Given the description of an element on the screen output the (x, y) to click on. 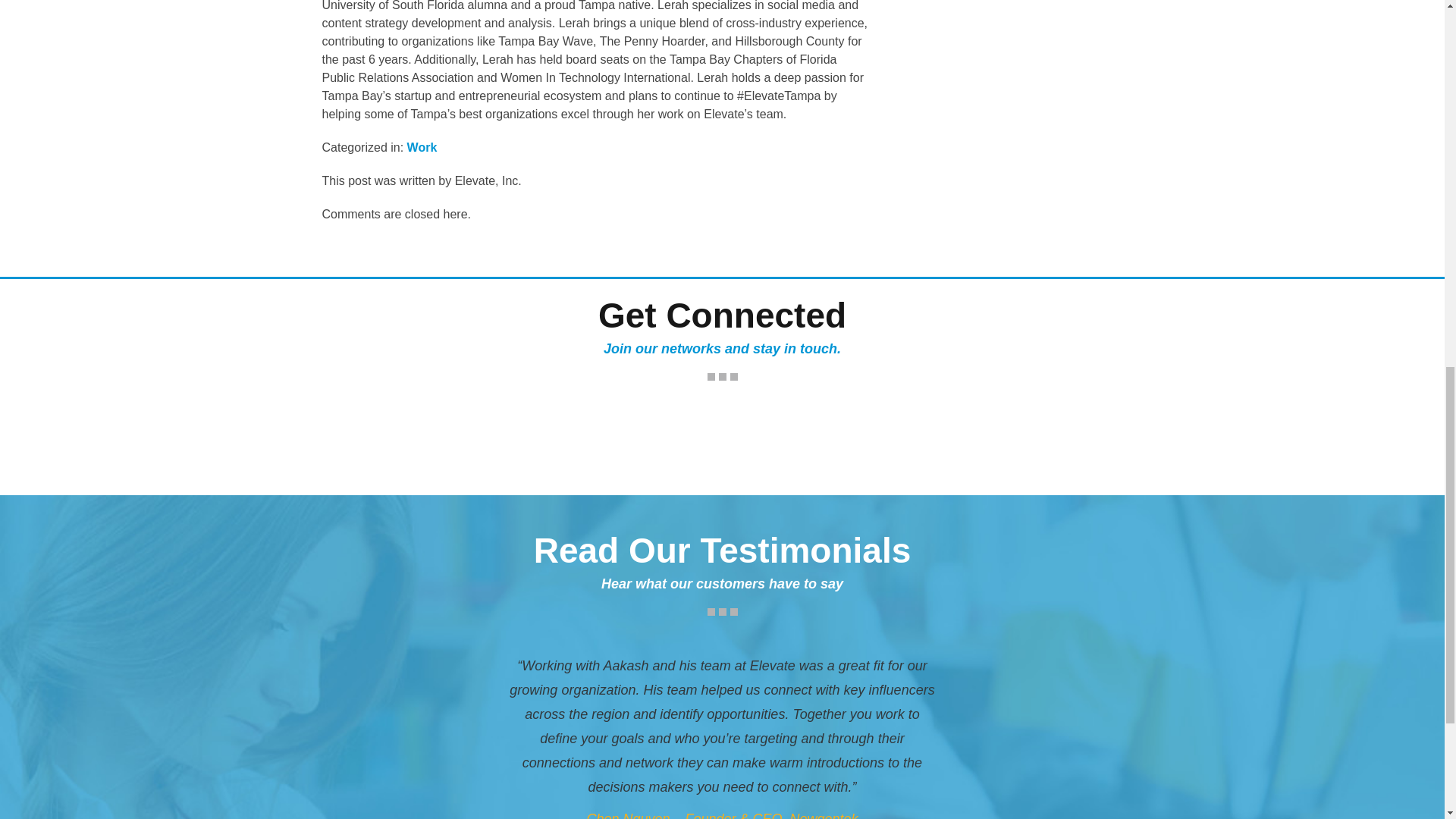
Work (422, 146)
